Given the description of an element on the screen output the (x, y) to click on. 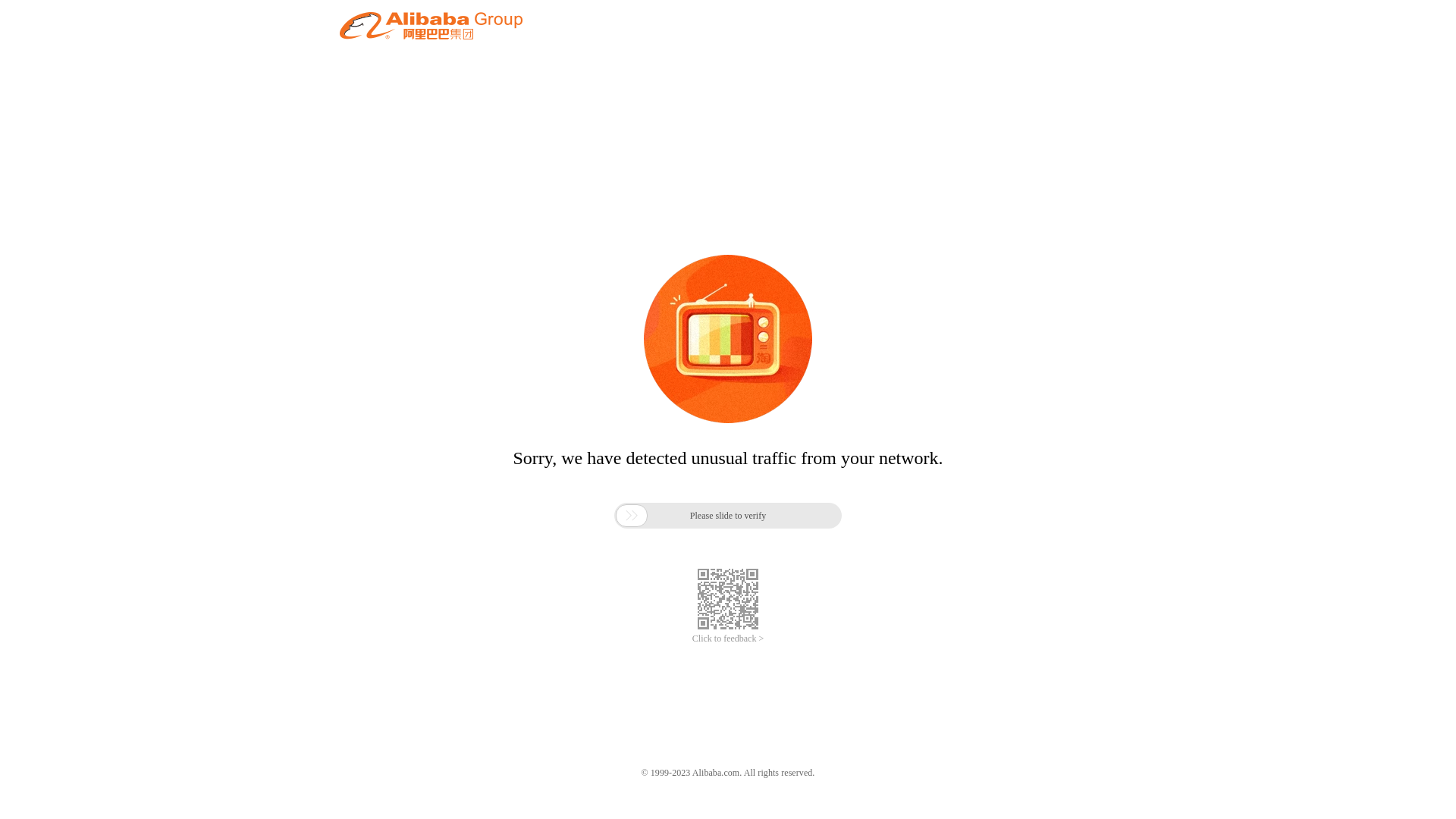
Click to feedback > Element type: text (727, 638)
